Given the description of an element on the screen output the (x, y) to click on. 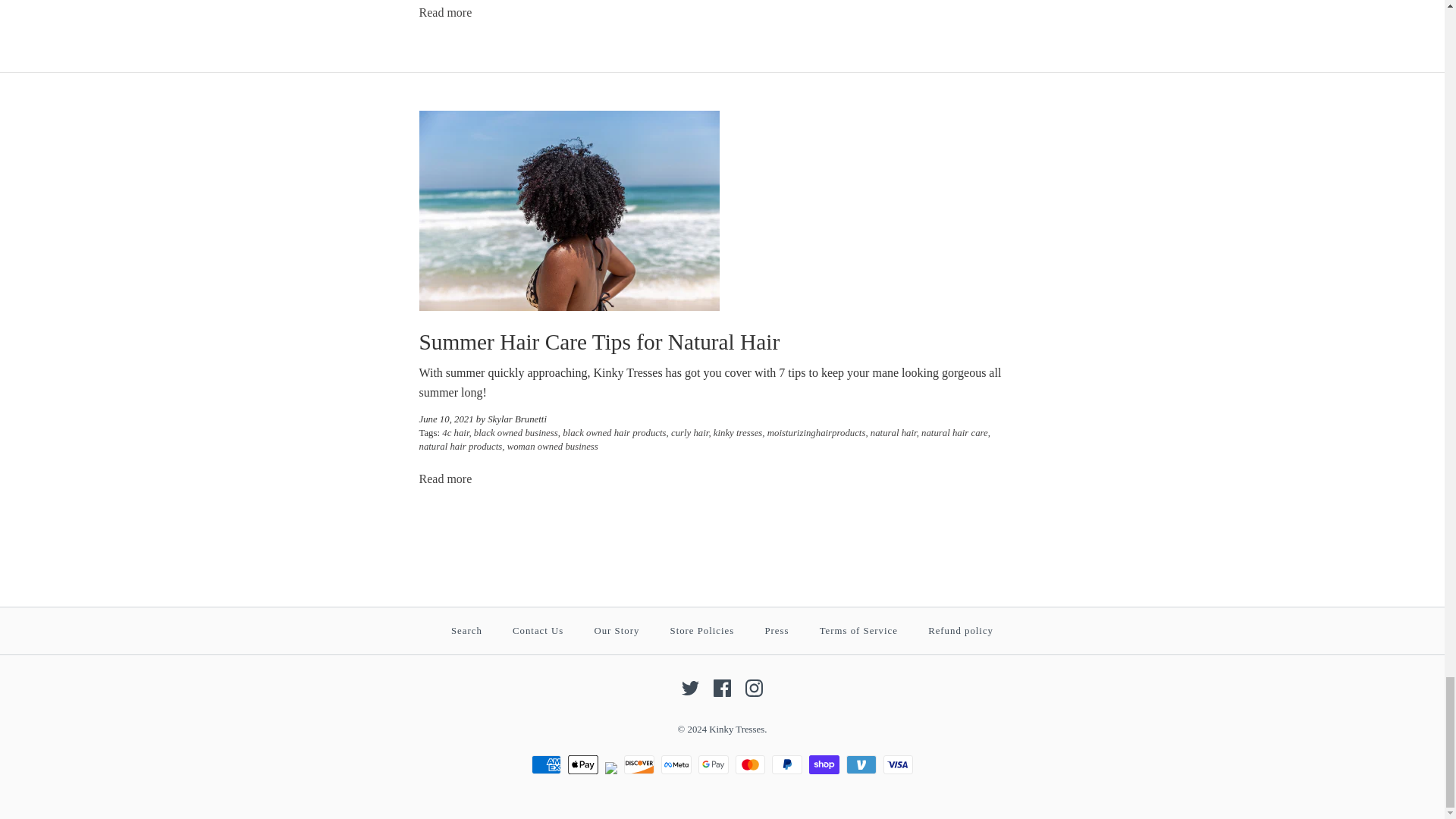
Facebook (721, 687)
Instagram (753, 687)
Twitter (689, 687)
